Given the description of an element on the screen output the (x, y) to click on. 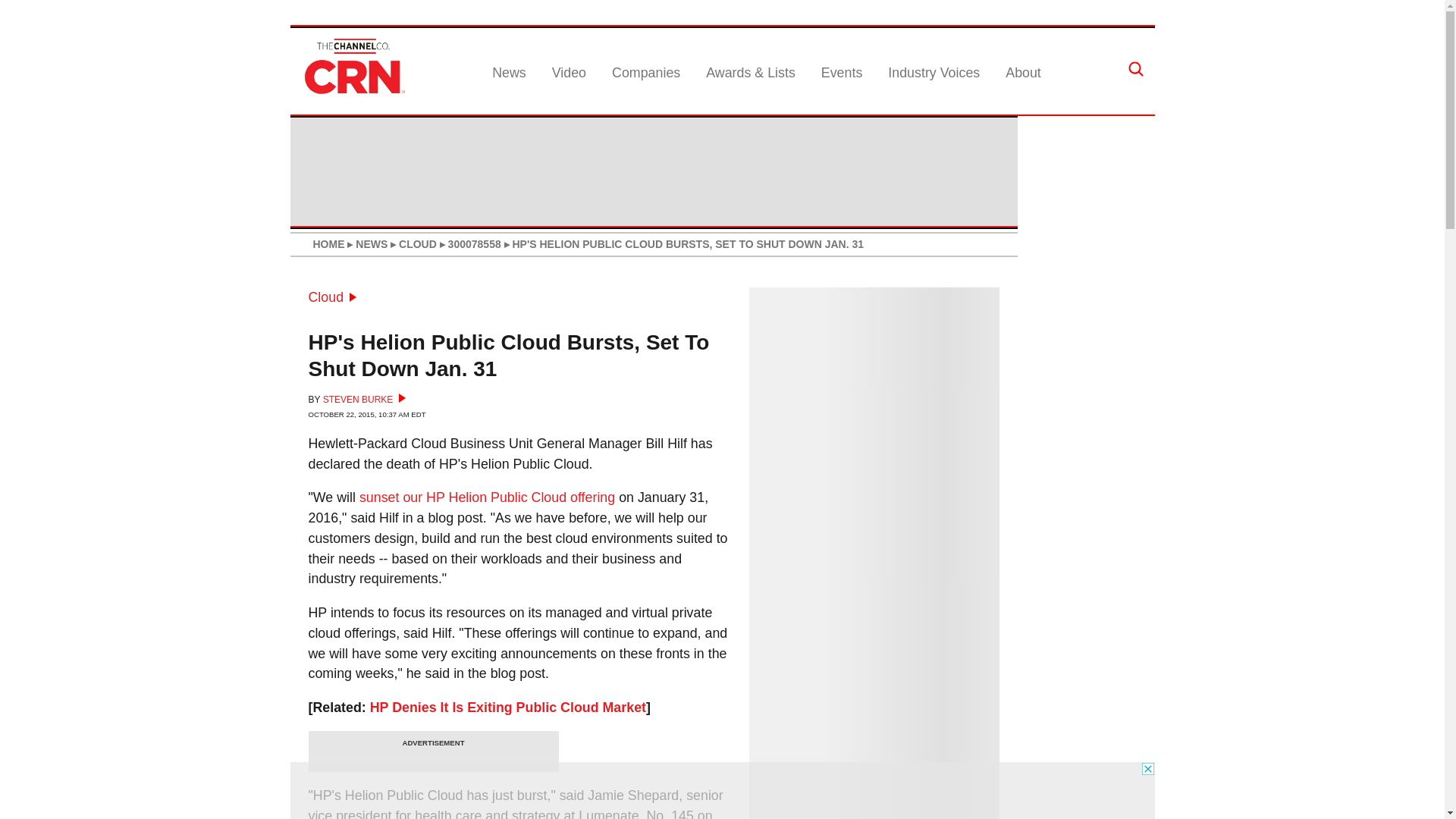
sunset our HP Helion Public Cloud offering (486, 497)
Cloud (331, 296)
HP Denies It Is Exiting Public Cloud Market (507, 707)
Navigate to homepage (352, 94)
